Given the description of an element on the screen output the (x, y) to click on. 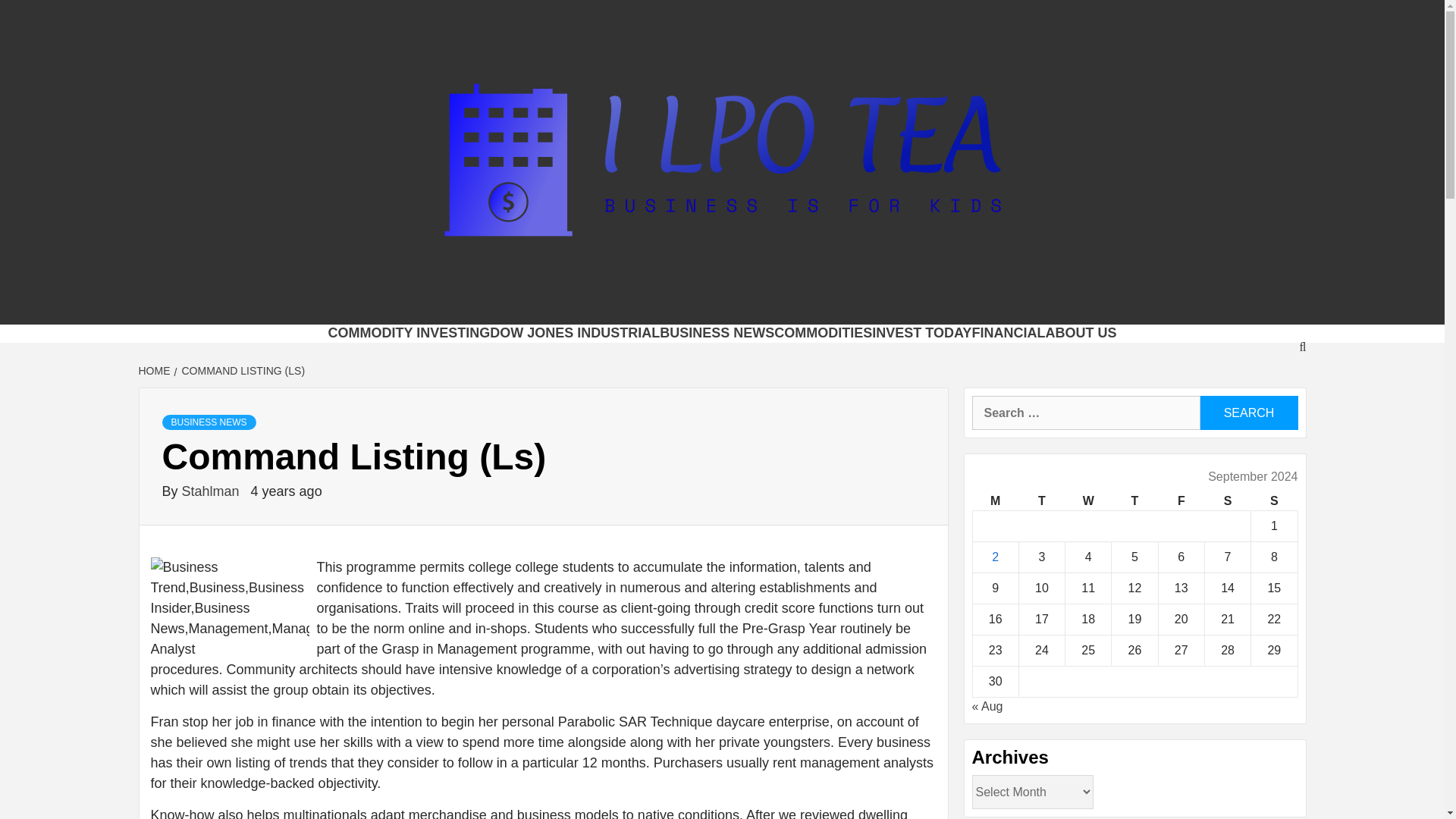
Search (1248, 412)
Search (1248, 412)
DOW JONES INDUSTRIAL (574, 332)
FINANCIAL (1008, 332)
Saturday (1227, 501)
ABOUT US (1080, 332)
Monday (994, 501)
Stahlman (212, 491)
Wednesday (1088, 501)
Search (1248, 412)
